Given the description of an element on the screen output the (x, y) to click on. 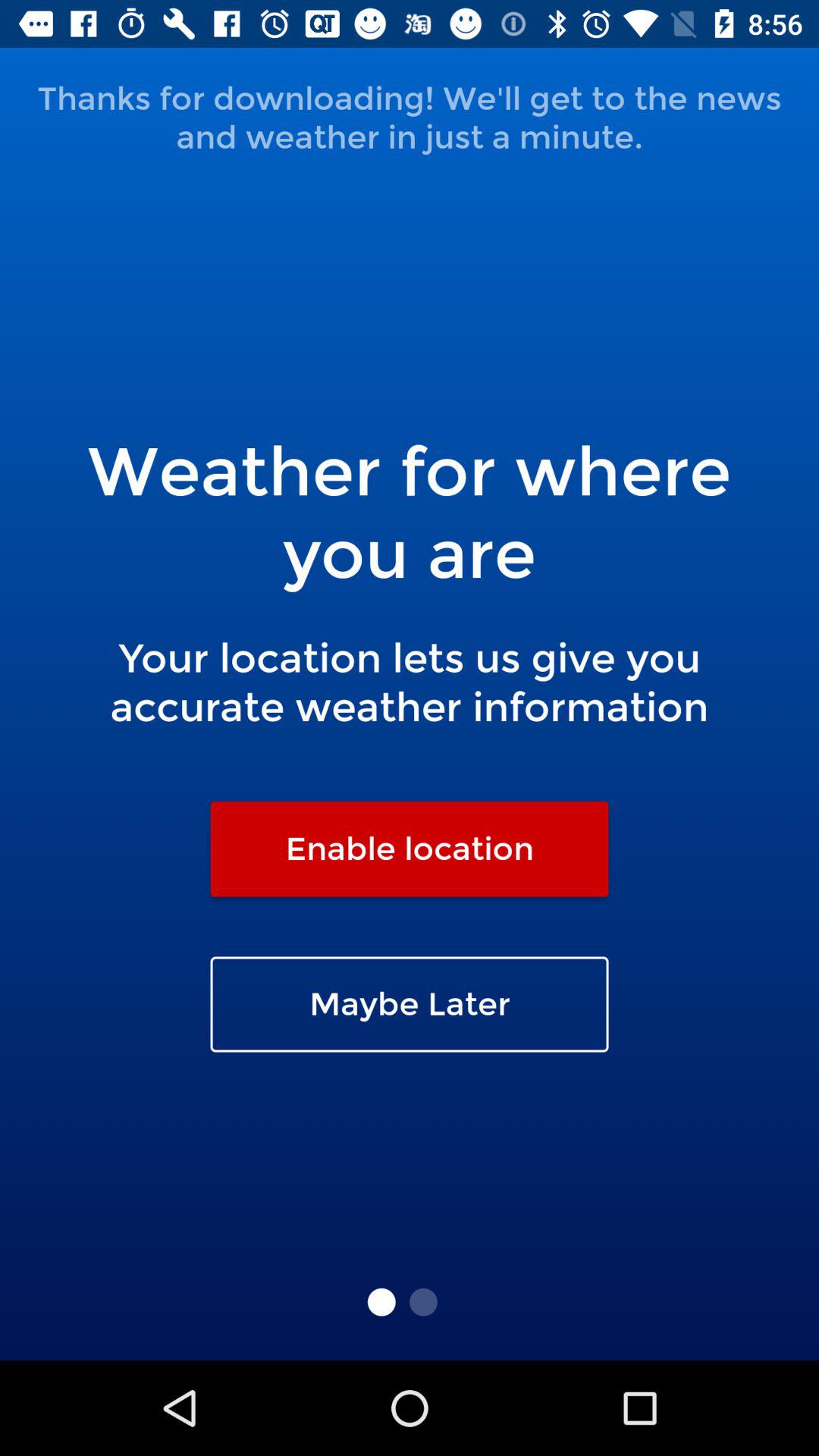
choose the maybe later icon (409, 1004)
